Given the description of an element on the screen output the (x, y) to click on. 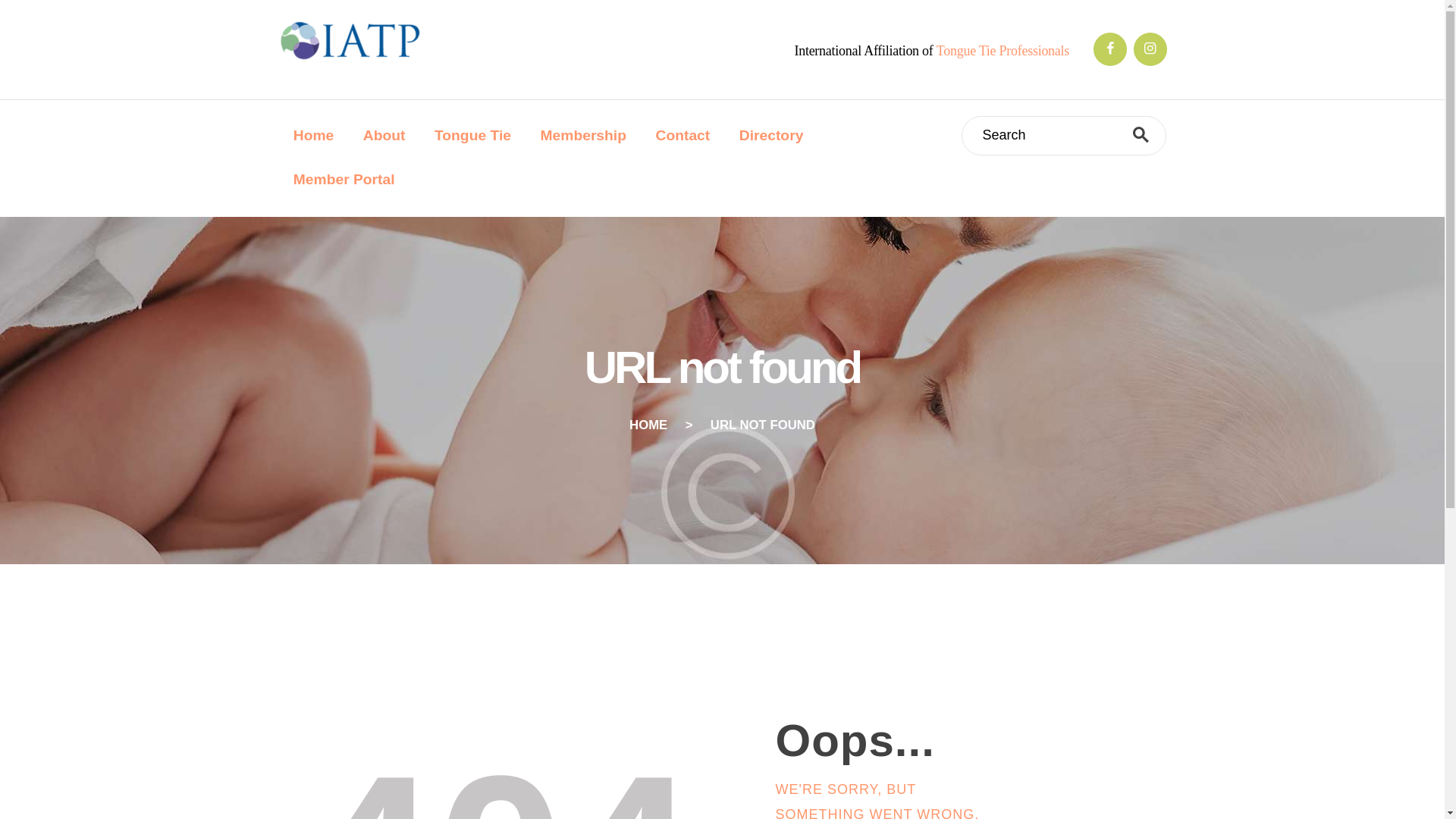
Membership (582, 135)
Directory (771, 135)
About (384, 135)
Contact (681, 135)
HOME (647, 425)
Tongue Tie (472, 135)
Member Portal (344, 179)
Tongue Tie Professionals (1002, 50)
Home (314, 135)
